Given the description of an element on the screen output the (x, y) to click on. 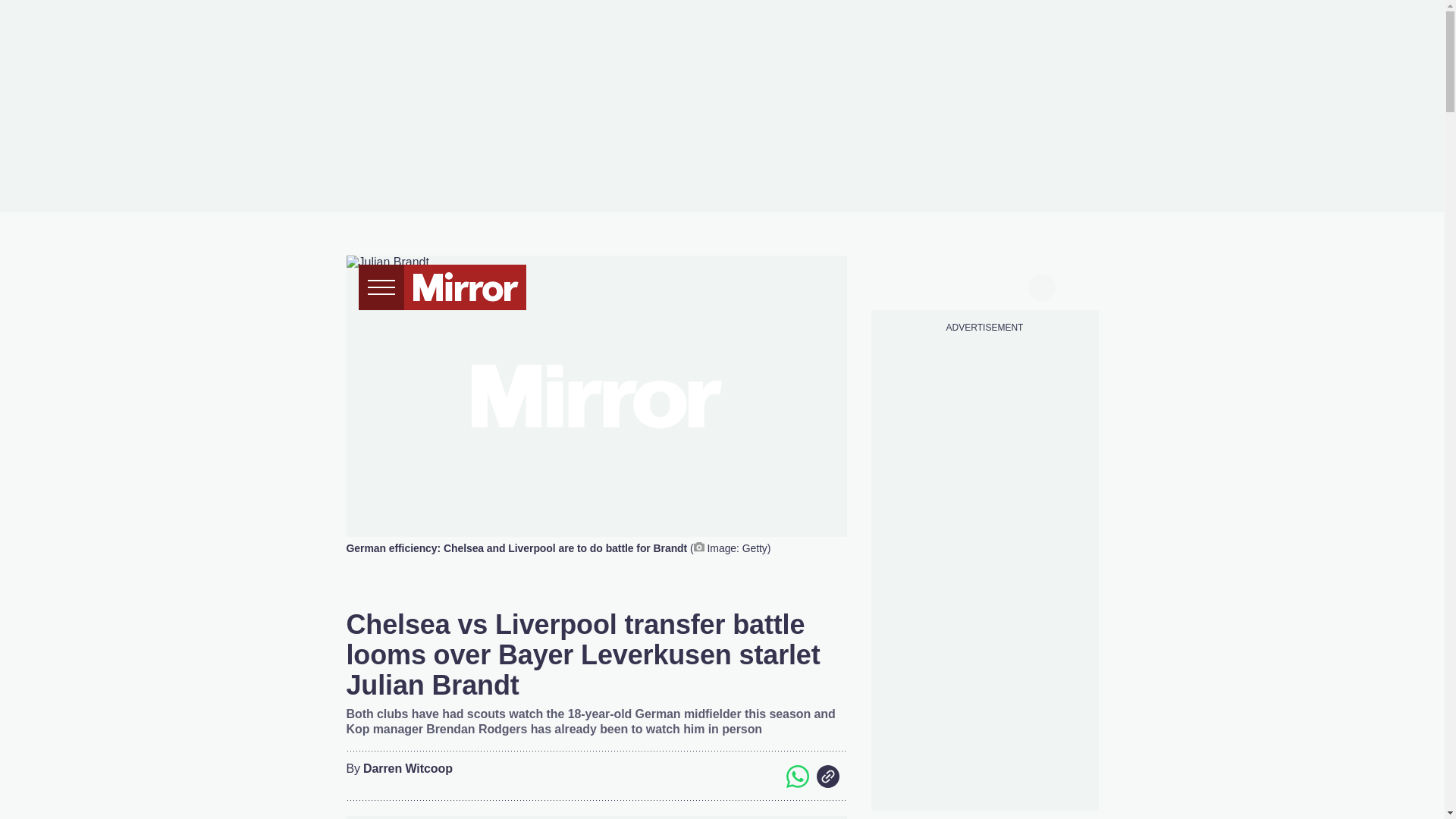
snapchat (1012, 285)
Whatsapp (797, 775)
tiktok (955, 285)
instagram (984, 285)
twitter (926, 285)
Twitter (766, 775)
Facebook (736, 775)
facebook (897, 285)
